Given the description of an element on the screen output the (x, y) to click on. 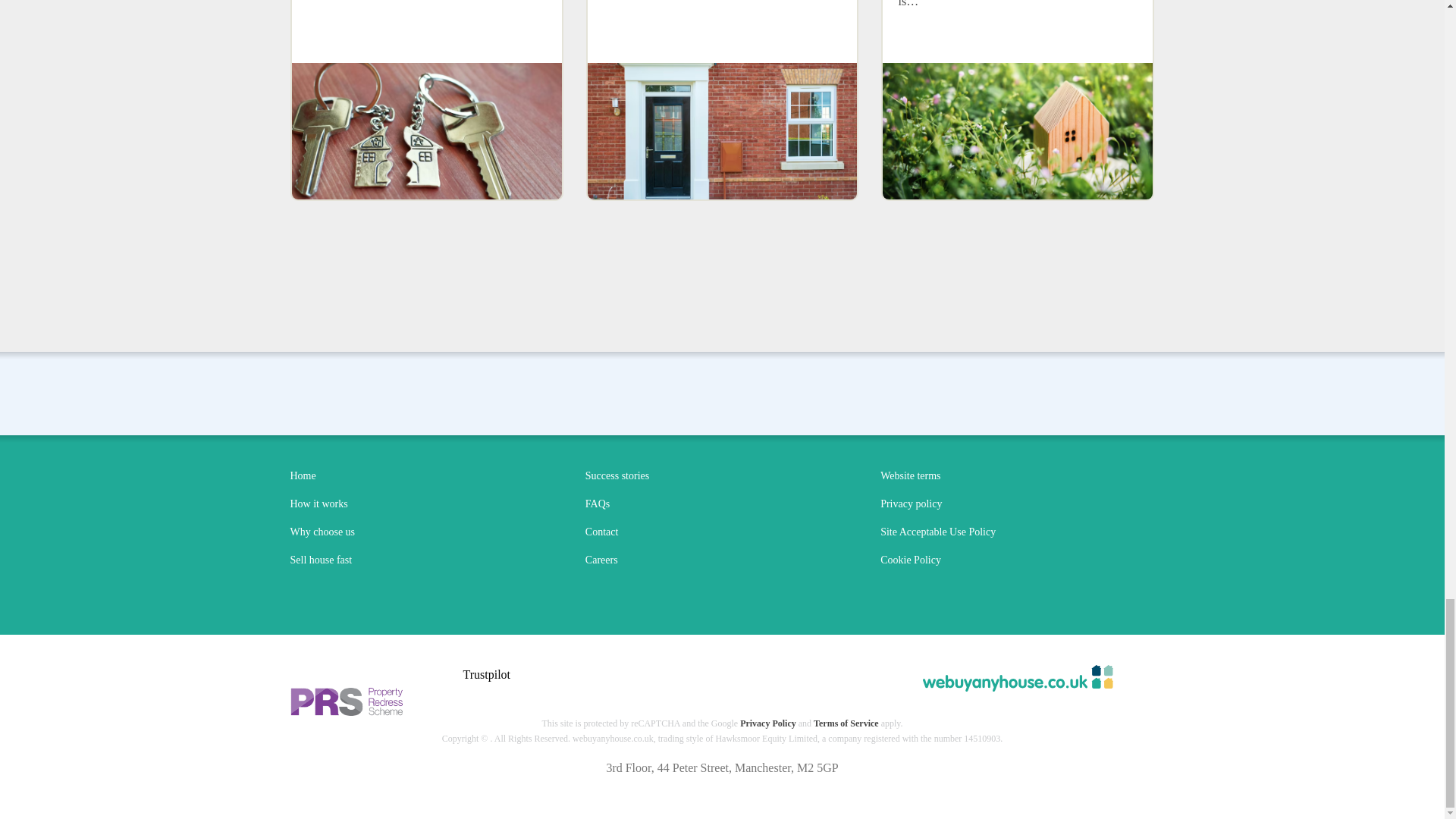
2 (1017, 131)
I (427, 131)
1 (722, 131)
